Given the description of an element on the screen output the (x, y) to click on. 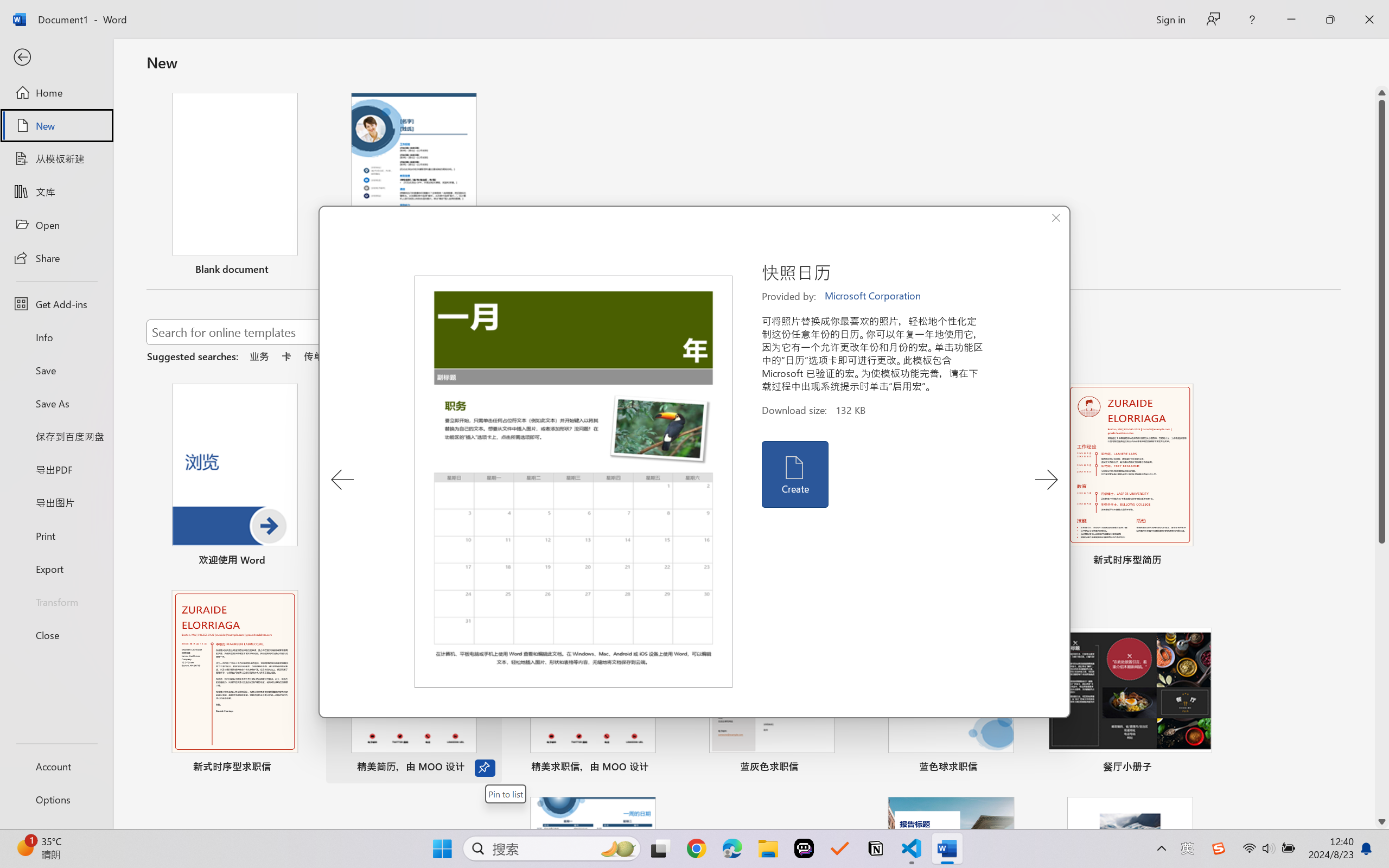
Back (56, 57)
Blank document (234, 185)
Previous Template (342, 479)
